Given the description of an element on the screen output the (x, y) to click on. 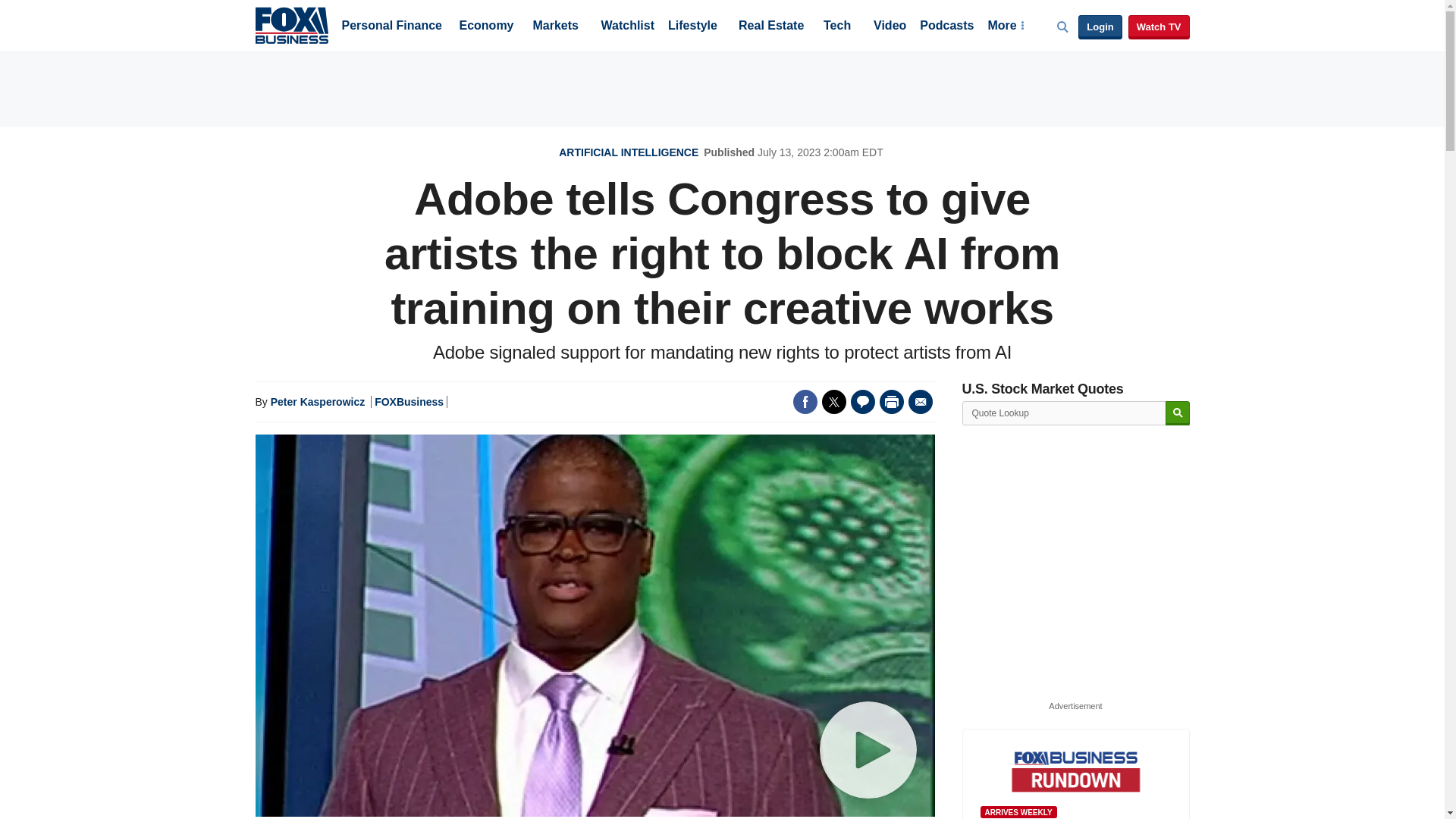
Economy (486, 27)
Personal Finance (391, 27)
Tech (837, 27)
Search (1176, 413)
Search (1176, 413)
Markets (555, 27)
Login (1099, 27)
Real Estate (770, 27)
Watchlist (626, 27)
Lifestyle (692, 27)
